Given the description of an element on the screen output the (x, y) to click on. 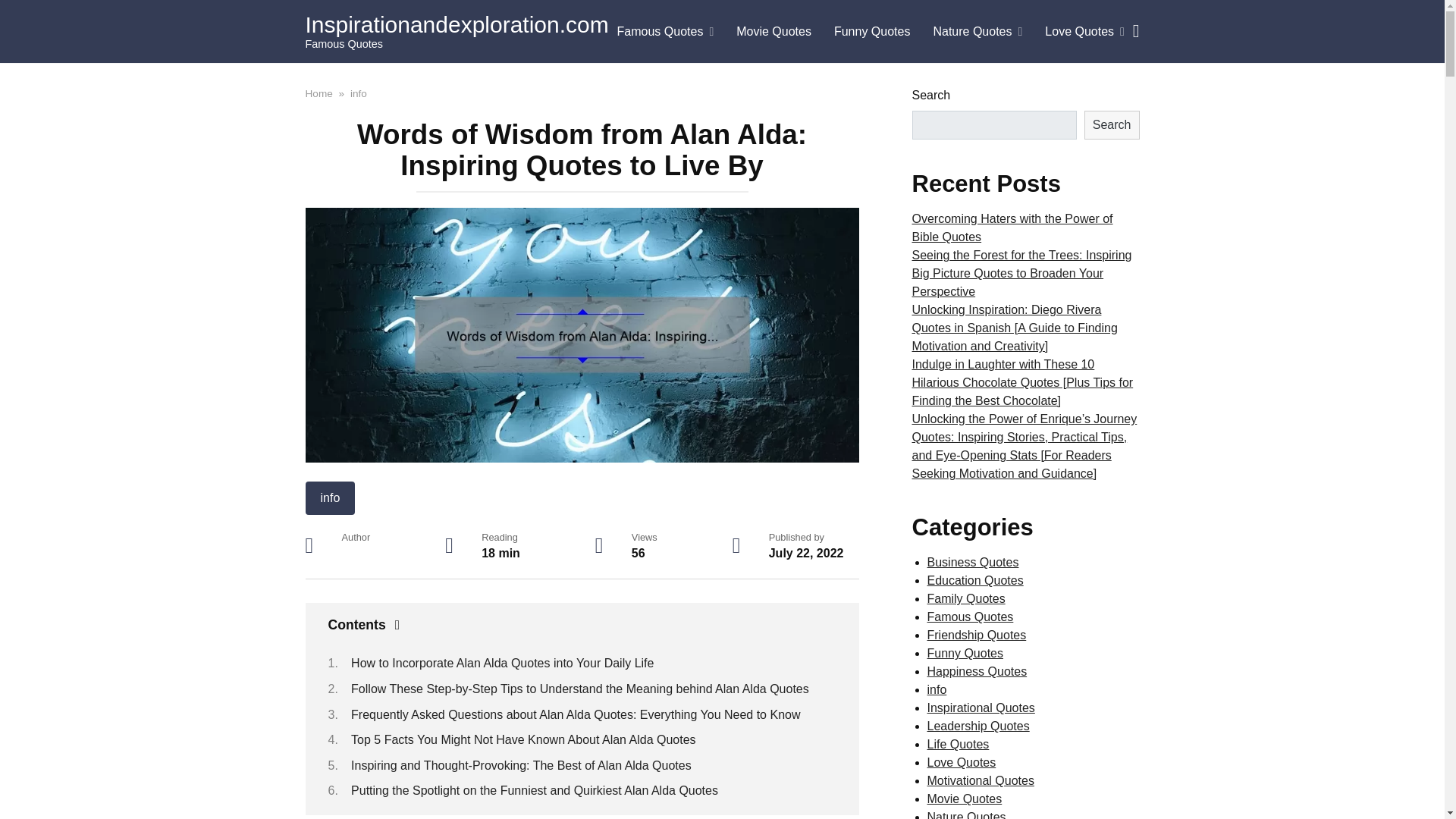
Famous Quotes (665, 31)
Inspirationandexploration.com (456, 24)
Top 5 Facts You Might Not Have Known About Alan Alda Quotes (522, 739)
Love Quotes (1084, 31)
info (329, 498)
info (358, 93)
Nature Quotes (977, 31)
Movie Quotes (773, 31)
Home (317, 93)
How to Incorporate Alan Alda Quotes into Your Daily Life (501, 662)
Funny Quotes (871, 31)
